Given the description of an element on the screen output the (x, y) to click on. 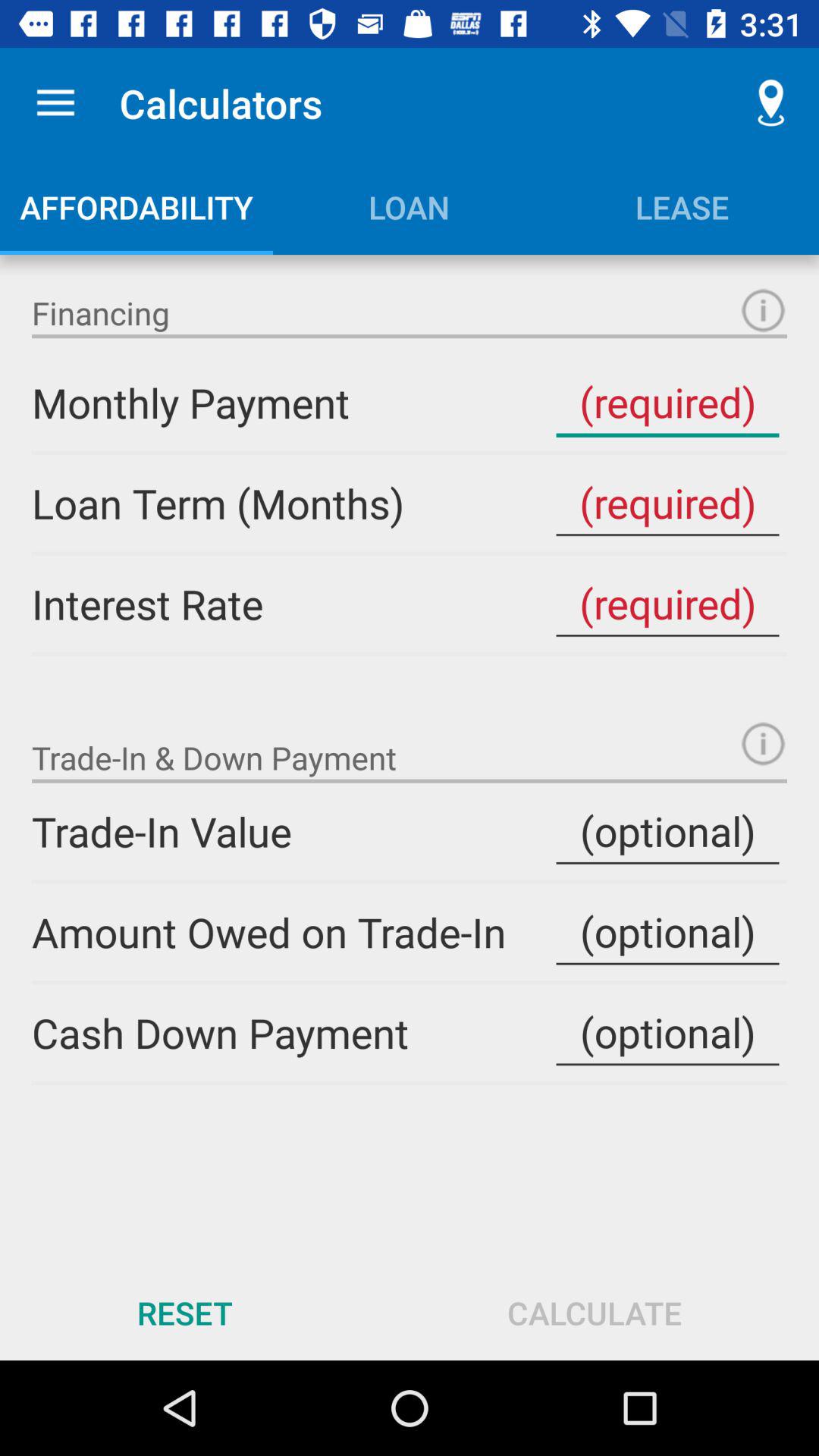
more information (763, 743)
